Given the description of an element on the screen output the (x, y) to click on. 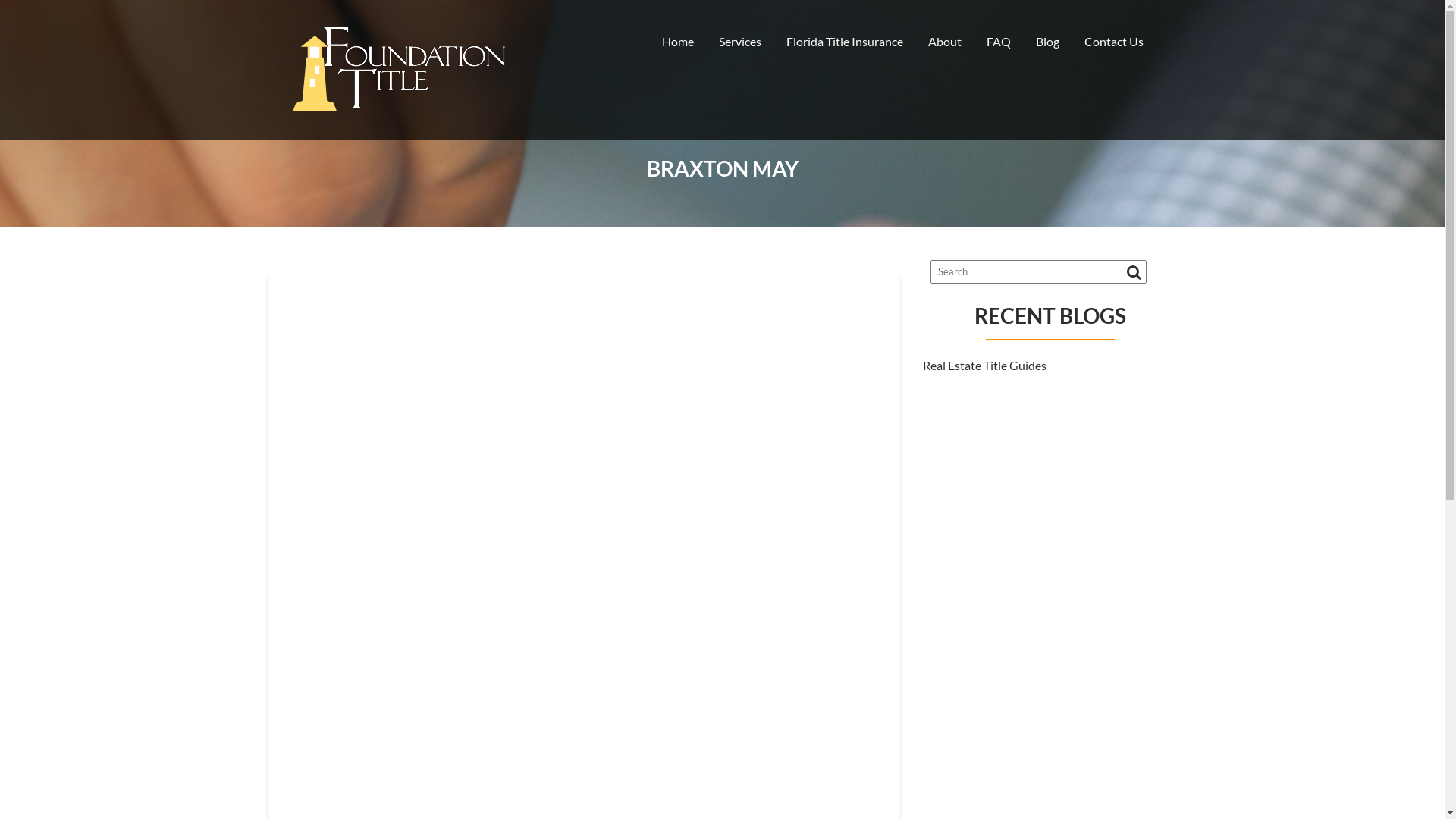
Blog Element type: text (1046, 41)
Real Estate Title Guides Element type: text (983, 364)
About Element type: text (944, 41)
FAQ Element type: text (998, 41)
Contact Us Element type: text (1113, 41)
Home Element type: text (677, 41)
Services Element type: text (738, 41)
Florida Title Insurance Element type: text (844, 41)
